Given the description of an element on the screen output the (x, y) to click on. 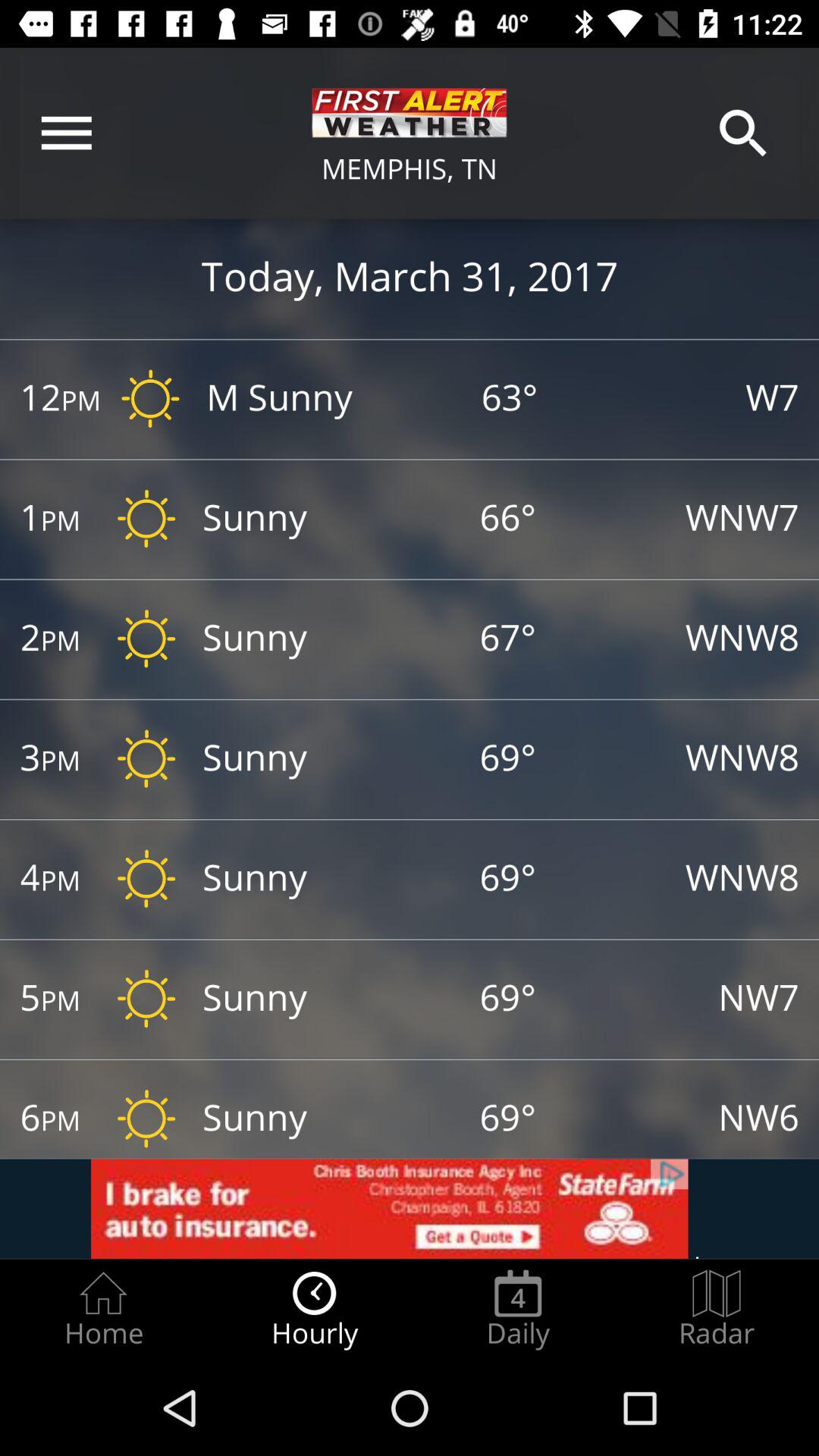
advertisement (409, 1208)
